Given the description of an element on the screen output the (x, y) to click on. 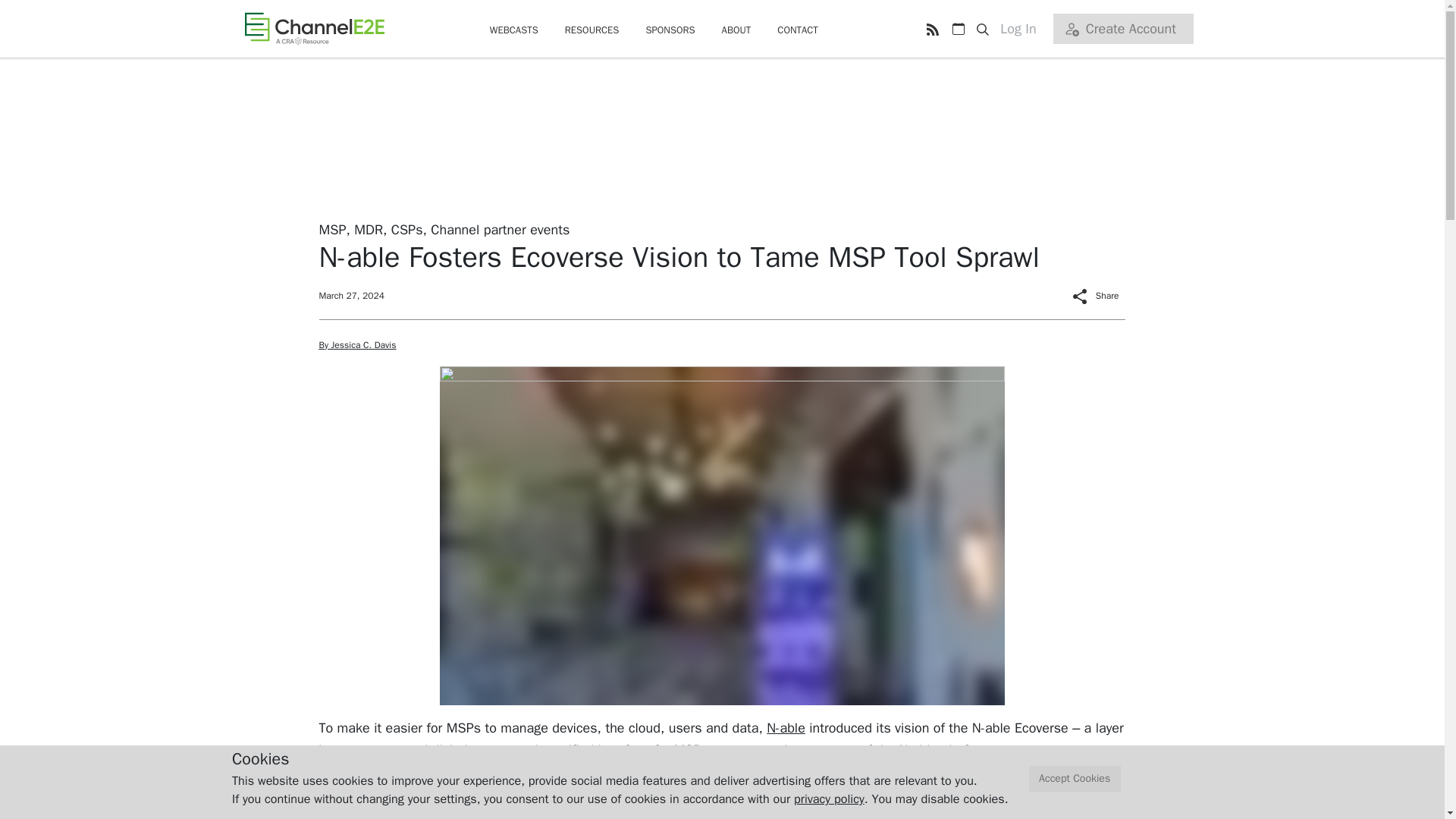
ChannelE2E (314, 27)
Log In (1023, 29)
RESOURCES (592, 30)
WEBCASTS (513, 30)
Accept Cookies (1075, 778)
privacy policy (828, 798)
CONTACT (797, 30)
N-able (786, 727)
Channel partner events (499, 229)
By Jessica C. Davis (357, 345)
